Given the description of an element on the screen output the (x, y) to click on. 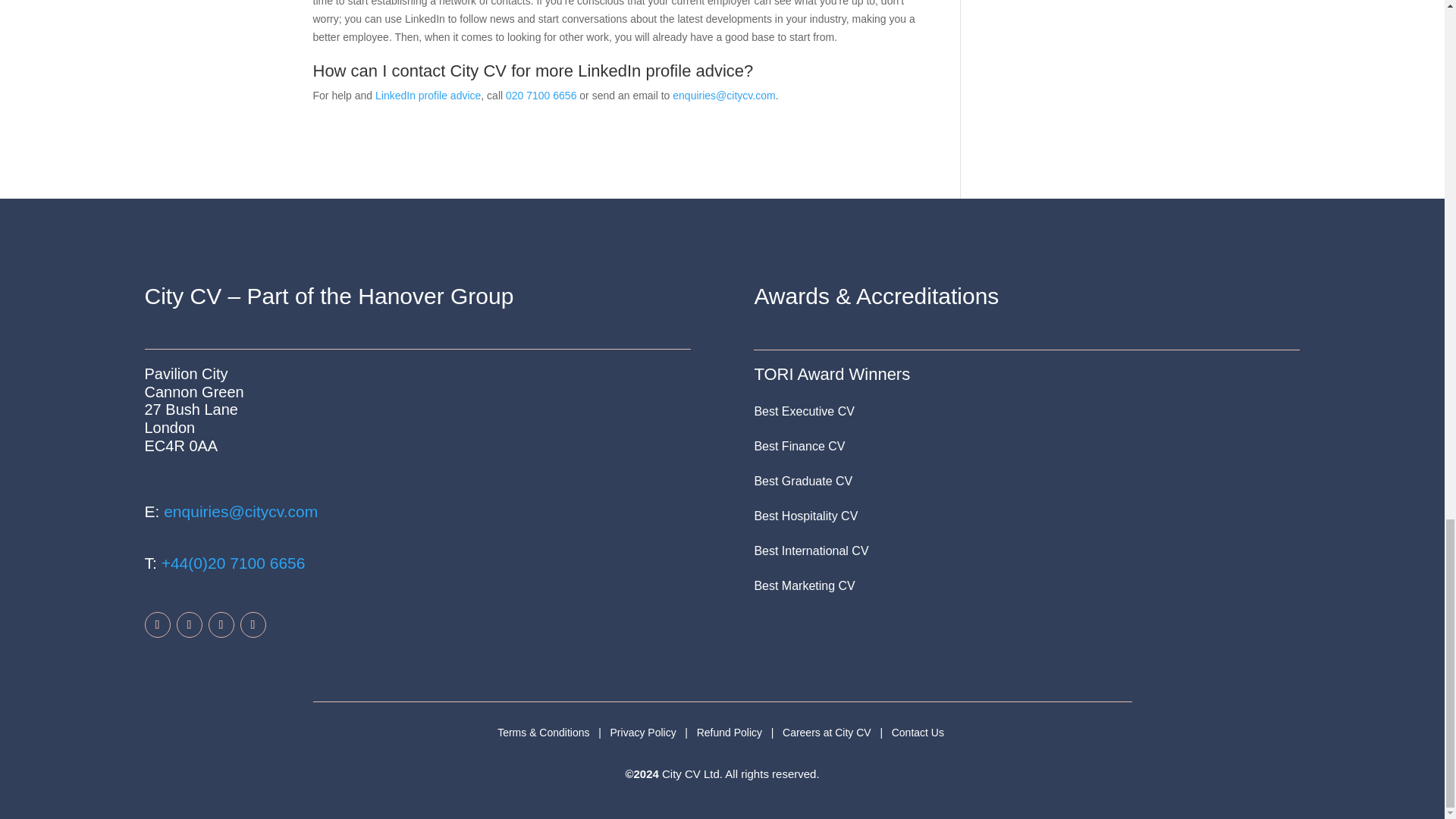
Follow on Facebook (157, 624)
Follow on X (220, 624)
LinkedIn profile advice (427, 95)
Follow on Instagram (252, 624)
Follow on LinkedIn (189, 624)
